Given the description of an element on the screen output the (x, y) to click on. 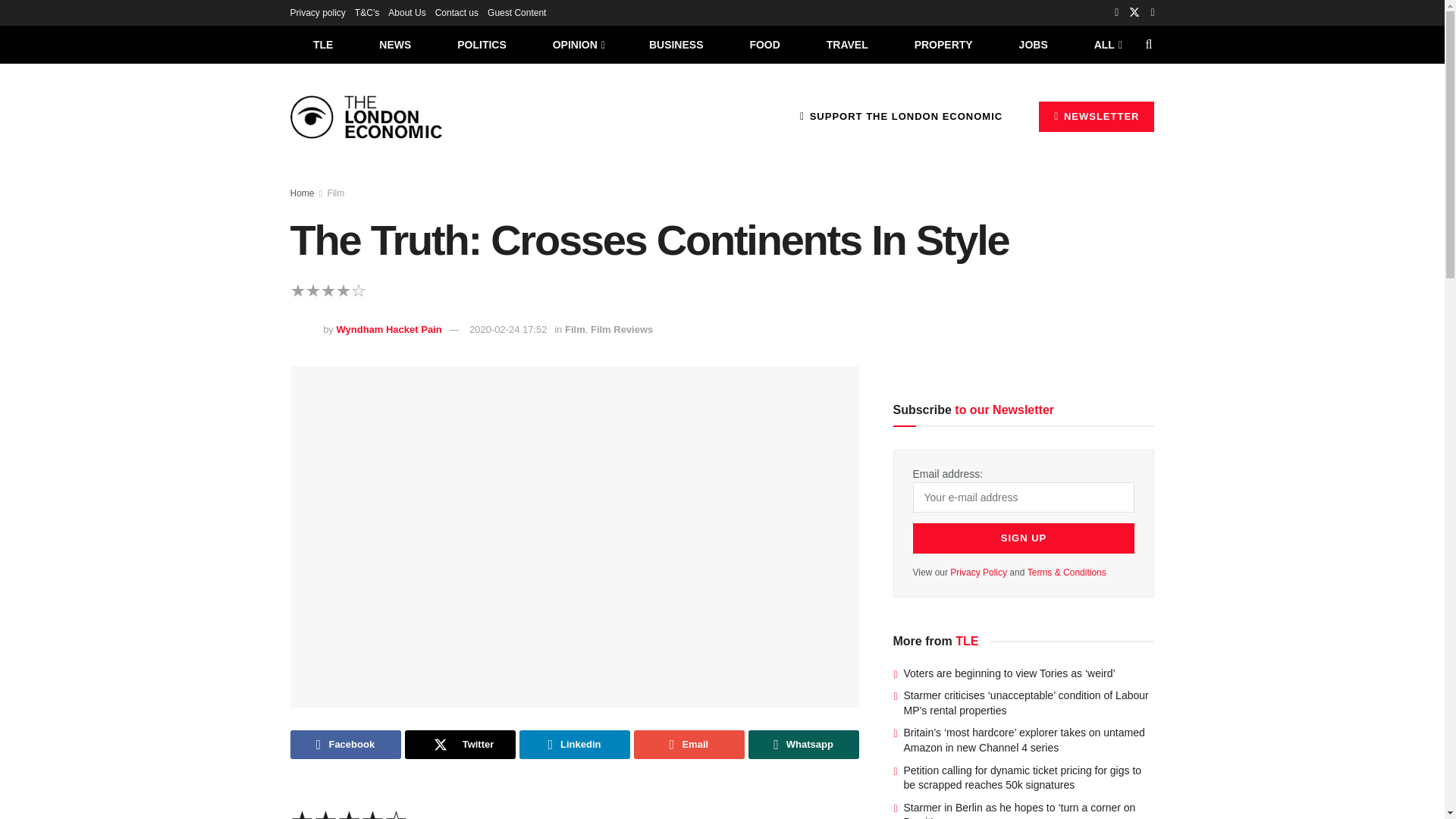
FOOD (764, 44)
NEWSLETTER (1096, 116)
TLE (322, 44)
SUPPORT THE LONDON ECONOMIC (900, 116)
POLITICS (481, 44)
Guest Content (516, 12)
Contact us (457, 12)
Sign up (1023, 538)
Privacy policy (317, 12)
JOBS (1032, 44)
